Given the description of an element on the screen output the (x, y) to click on. 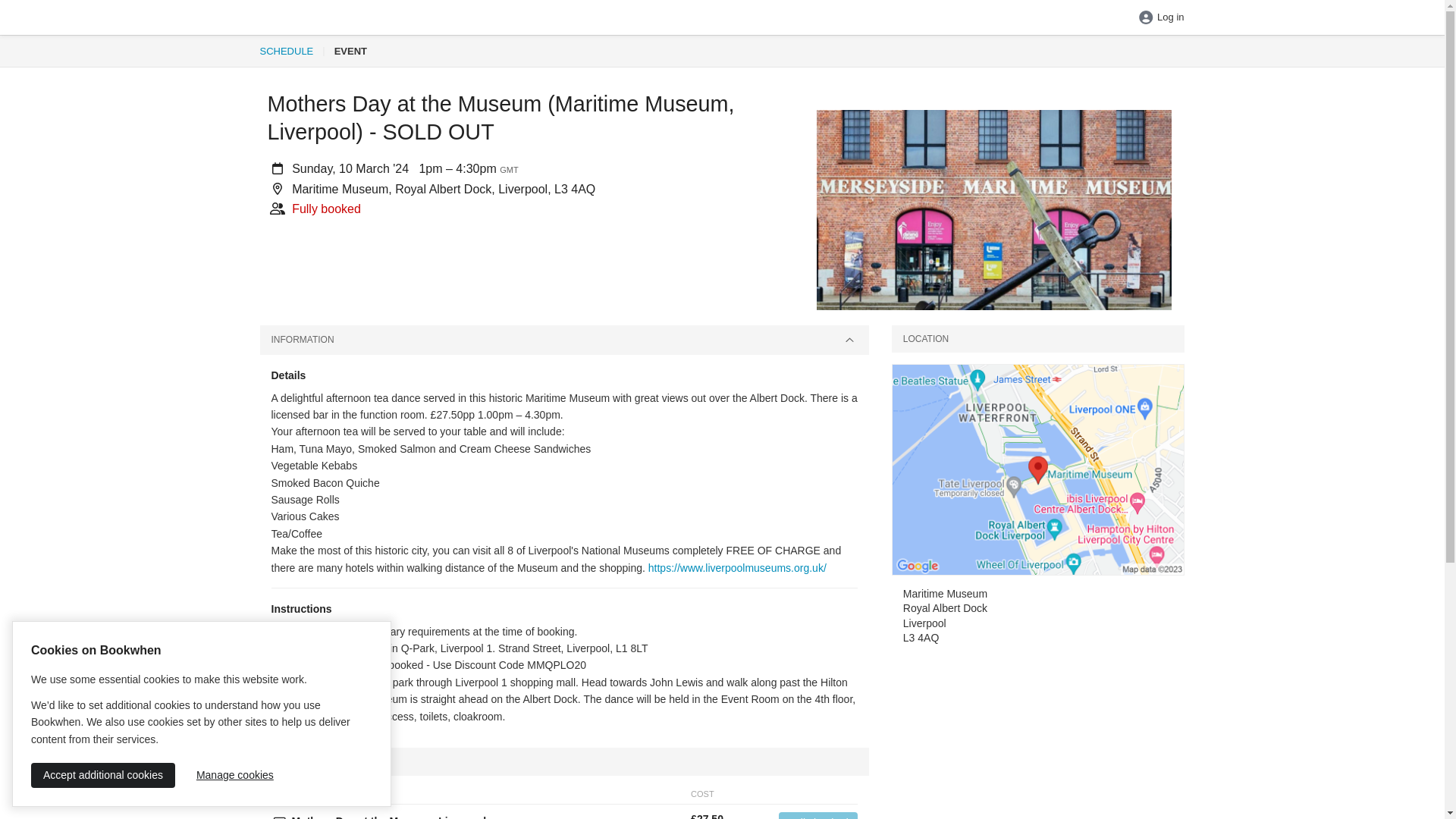
INFORMATION (563, 339)
Log in (1160, 17)
SCHEDULE (286, 50)
Fully booked (817, 815)
Accept additional cookies (102, 774)
EVENT (350, 50)
Manage cookies (234, 774)
